Given the description of an element on the screen output the (x, y) to click on. 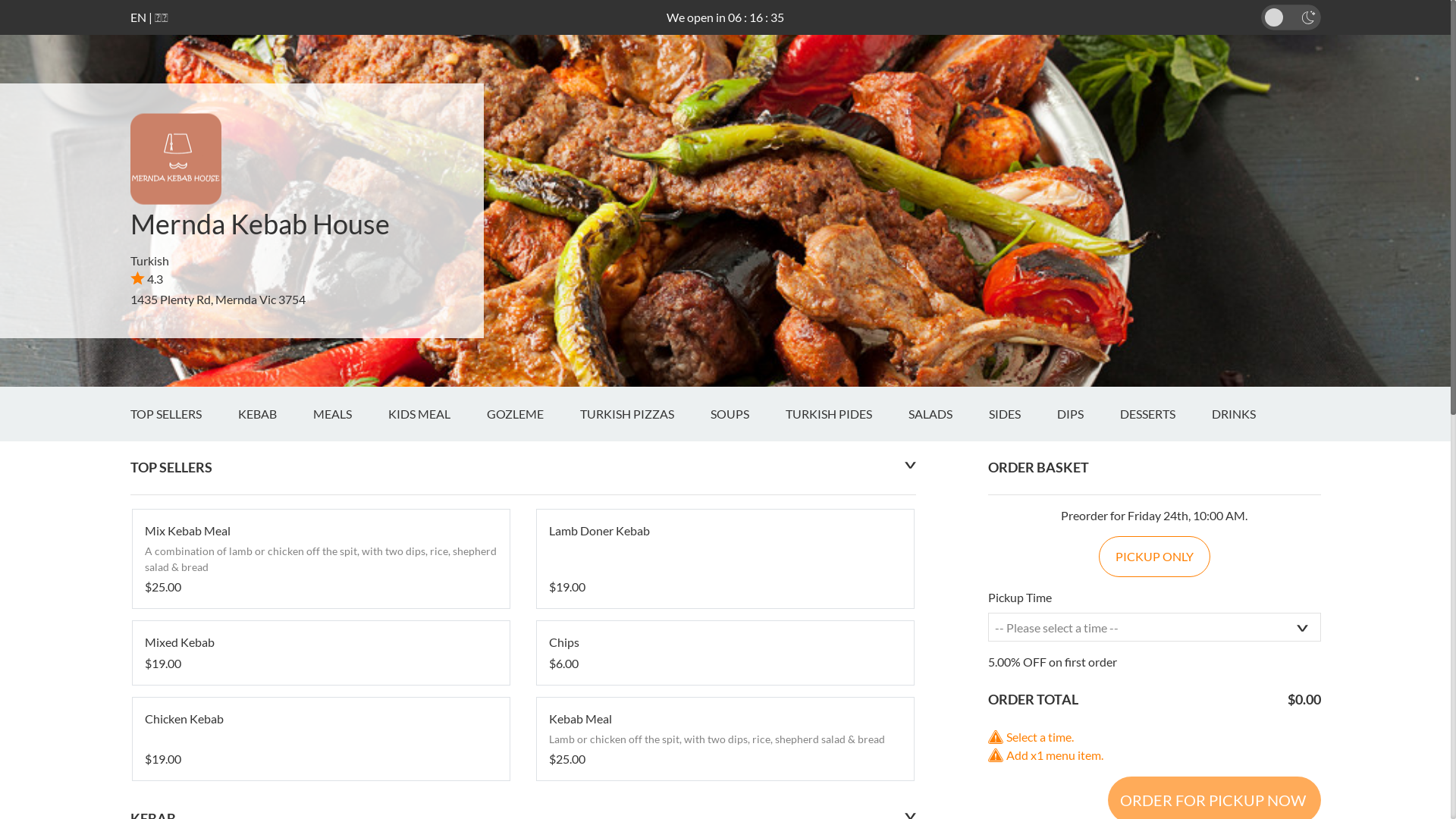
Chips
$6.00 Element type: text (725, 652)
DESSERTS Element type: text (1165, 413)
TOP SELLERS Element type: text (184, 413)
DIPS Element type: text (1088, 413)
Mixed Kebab
$19.00 Element type: text (320, 652)
PICKUP ONLY Element type: text (1154, 556)
KEBAB Element type: text (275, 413)
SALADS Element type: text (948, 413)
Chicken Kebab
$19.00 Element type: text (320, 738)
MEALS Element type: text (349, 413)
4.3 Element type: text (146, 278)
TURKISH PIZZAS Element type: text (644, 413)
SOUPS Element type: text (746, 413)
DRINKS Element type: text (1251, 413)
Chips
$6.00 Element type: text (725, 652)
Lamb Doner Kebab
$19.00 Element type: text (725, 558)
EN Element type: text (138, 16)
GOZLEME Element type: text (533, 413)
TURKISH PIDES Element type: text (846, 413)
Mixed Kebab
$19.00 Element type: text (320, 652)
KIDS MEAL Element type: text (437, 413)
SIDES Element type: text (1022, 413)
Lamb Doner Kebab
$19.00 Element type: text (725, 558)
Chicken Kebab
$19.00 Element type: text (320, 738)
Mernda Kebab House Element type: text (259, 223)
